Given the description of an element on the screen output the (x, y) to click on. 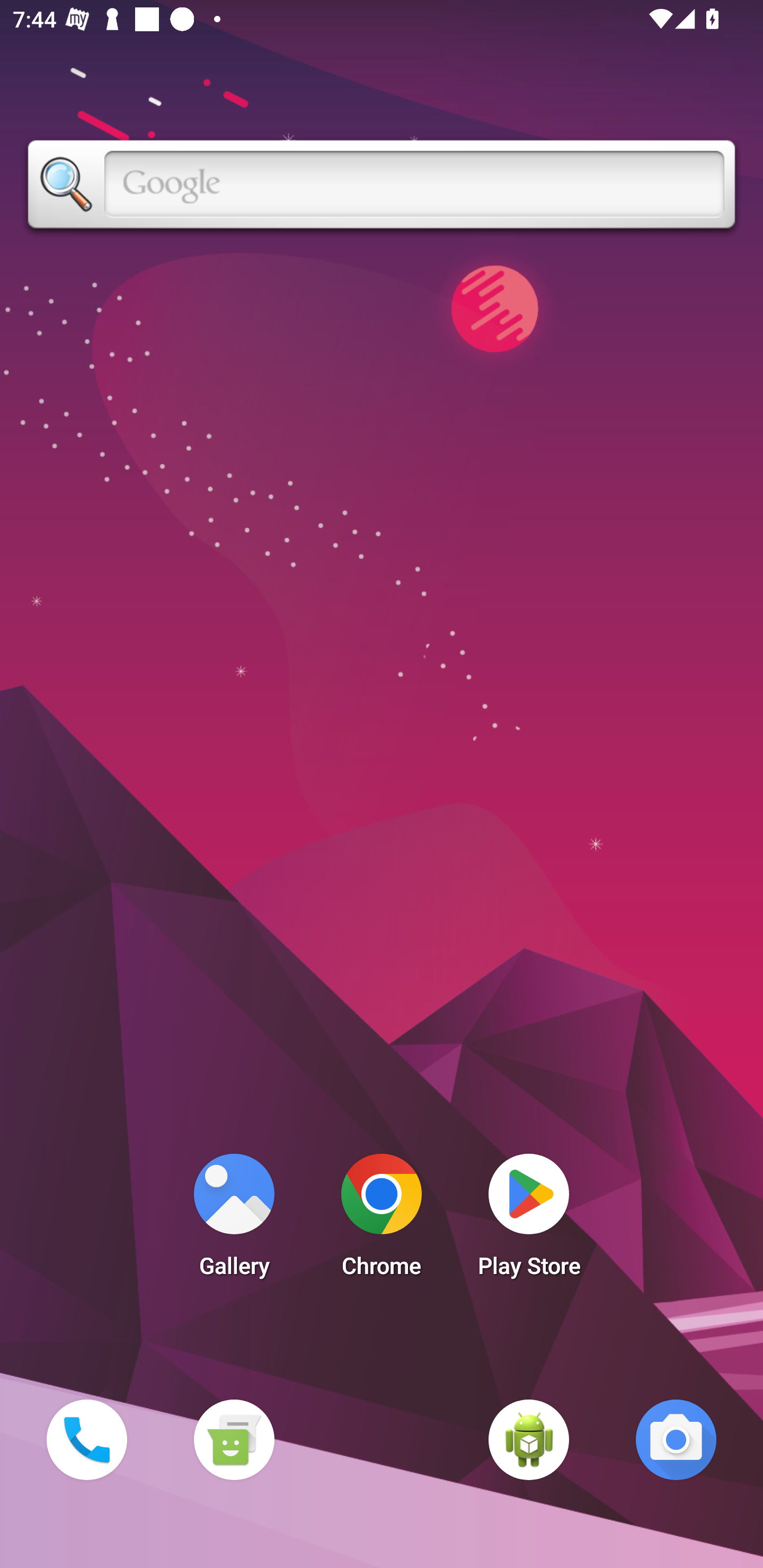
Gallery (233, 1220)
Chrome (381, 1220)
Play Store (528, 1220)
Phone (86, 1439)
Messaging (233, 1439)
WebView Browser Tester (528, 1439)
Camera (676, 1439)
